Given the description of an element on the screen output the (x, y) to click on. 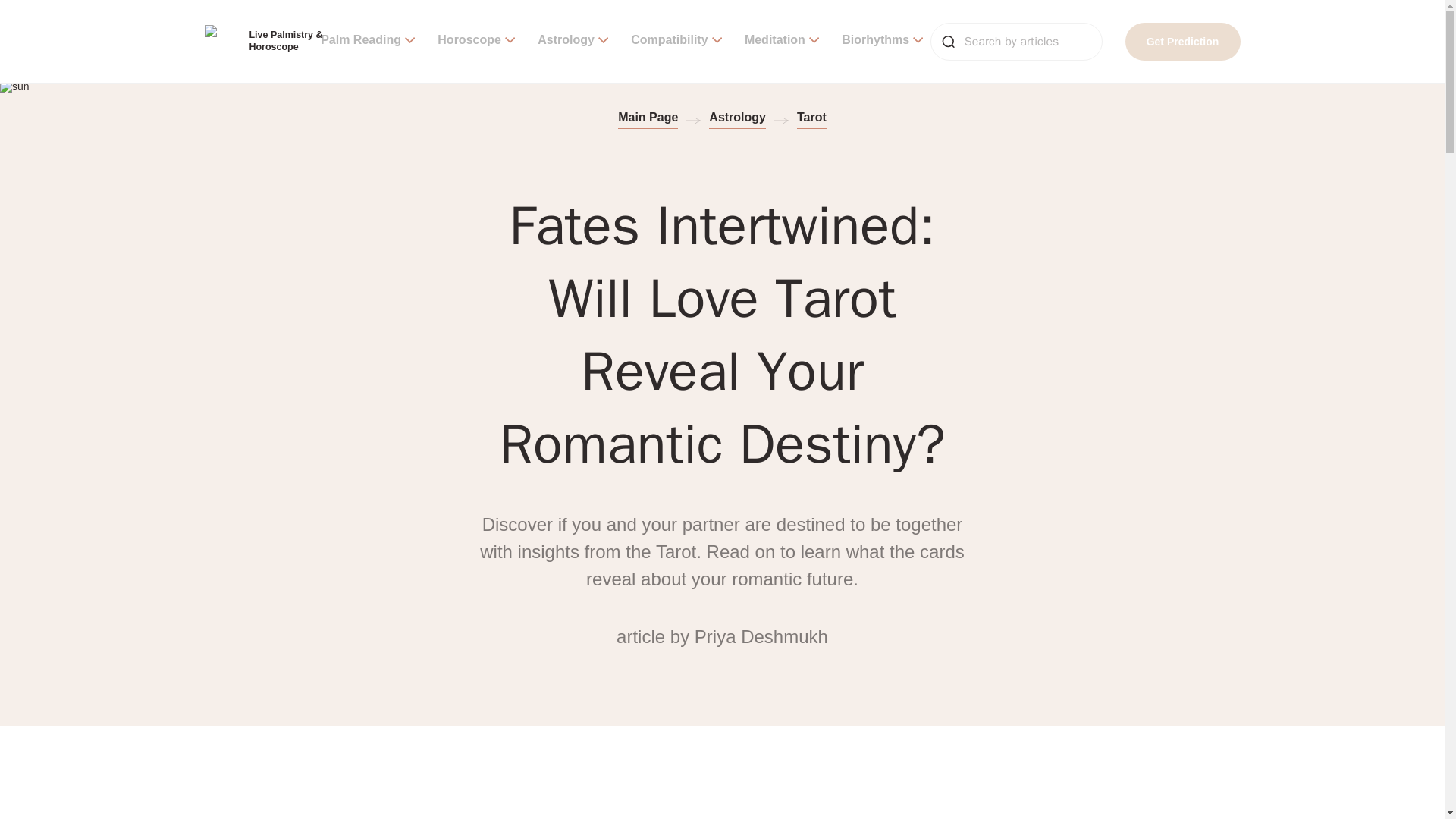
Get Prediction (1182, 41)
Astrology (572, 41)
Biorhythms (882, 41)
Meditation (781, 41)
Horoscope (476, 41)
Compatibility (676, 41)
Palm Reading (367, 41)
